Given the description of an element on the screen output the (x, y) to click on. 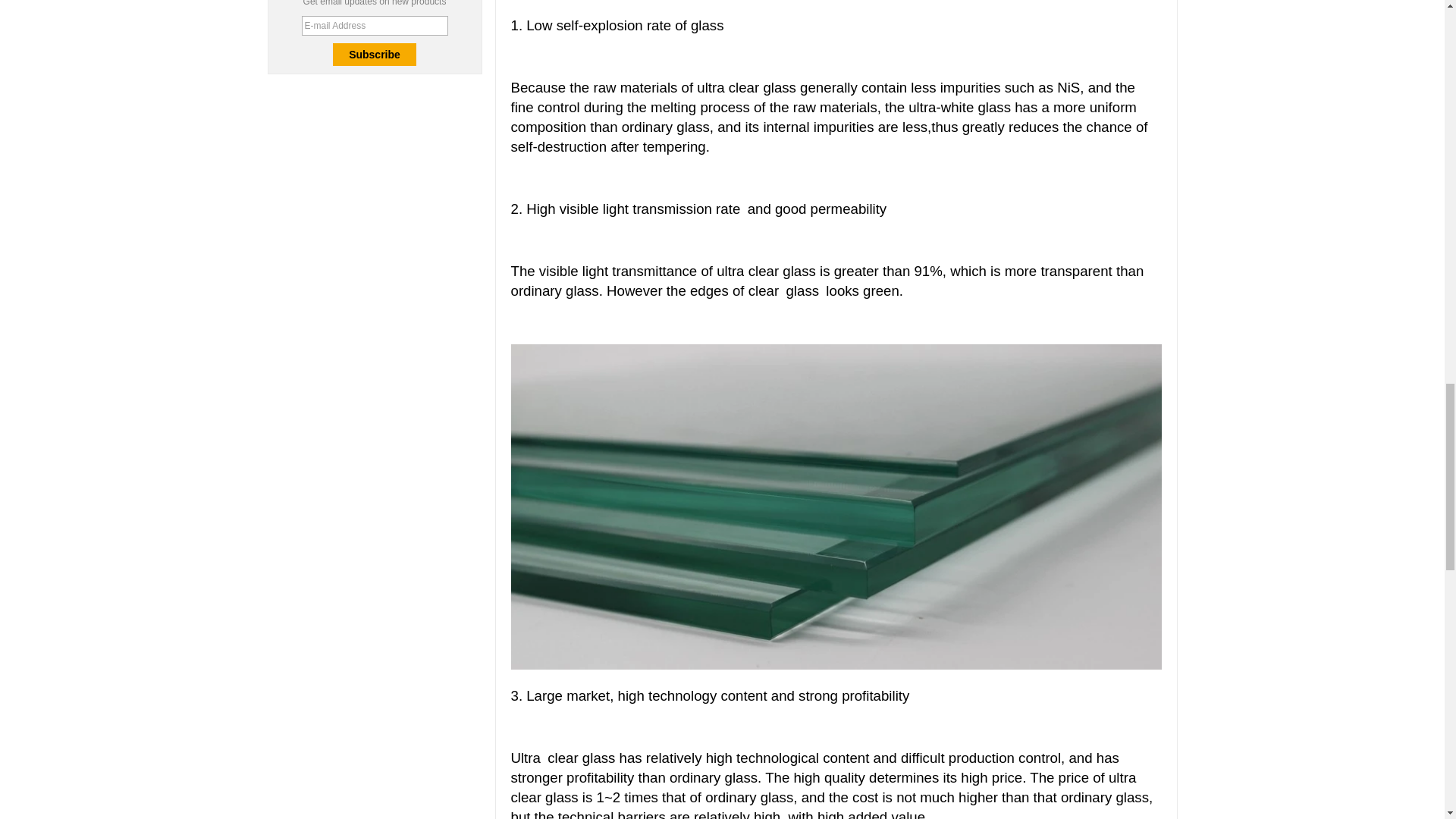
E-mail Address (374, 25)
Subscribe (374, 54)
